Given the description of an element on the screen output the (x, y) to click on. 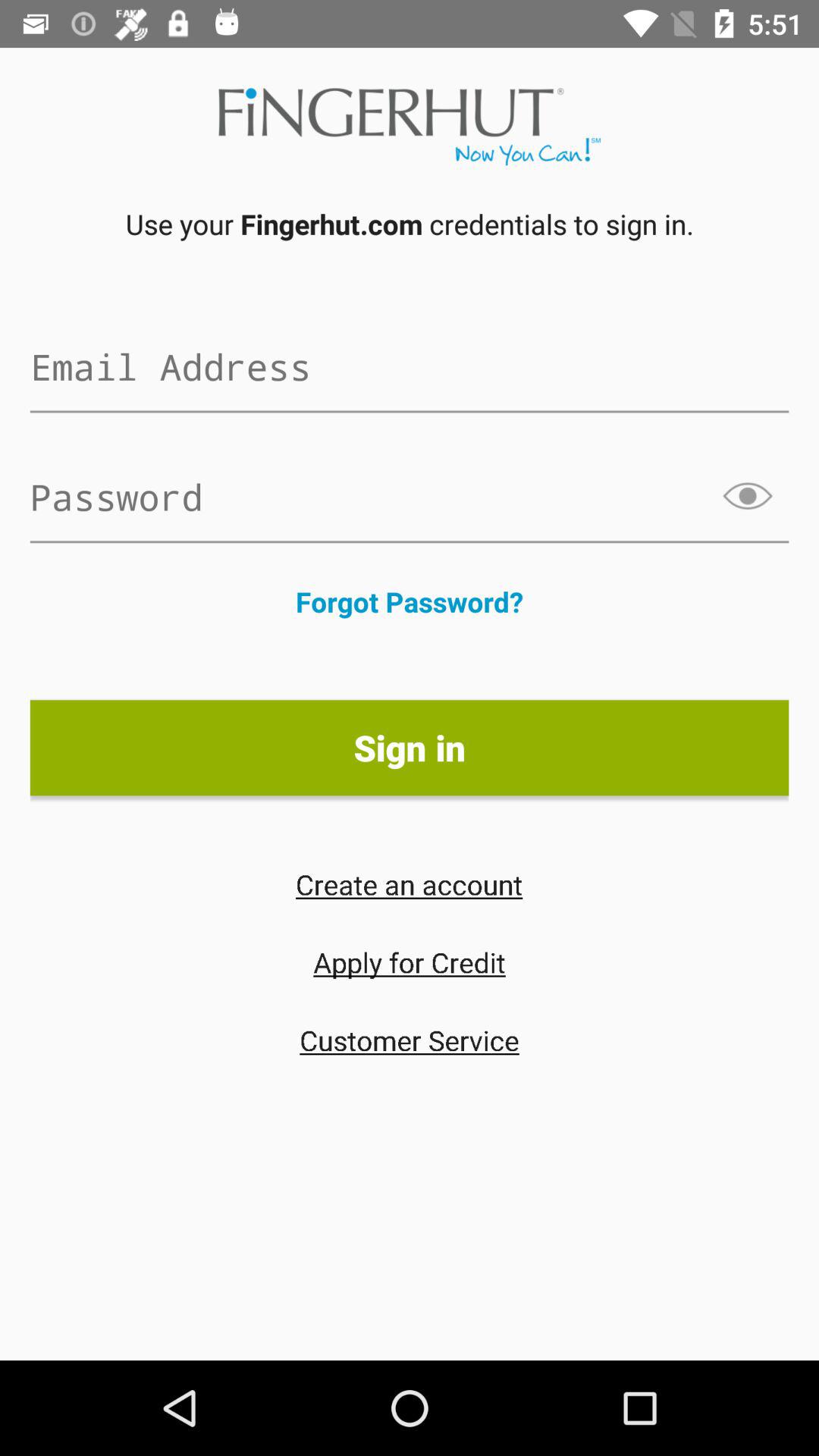
press the icon below the create an account icon (409, 962)
